Given the description of an element on the screen output the (x, y) to click on. 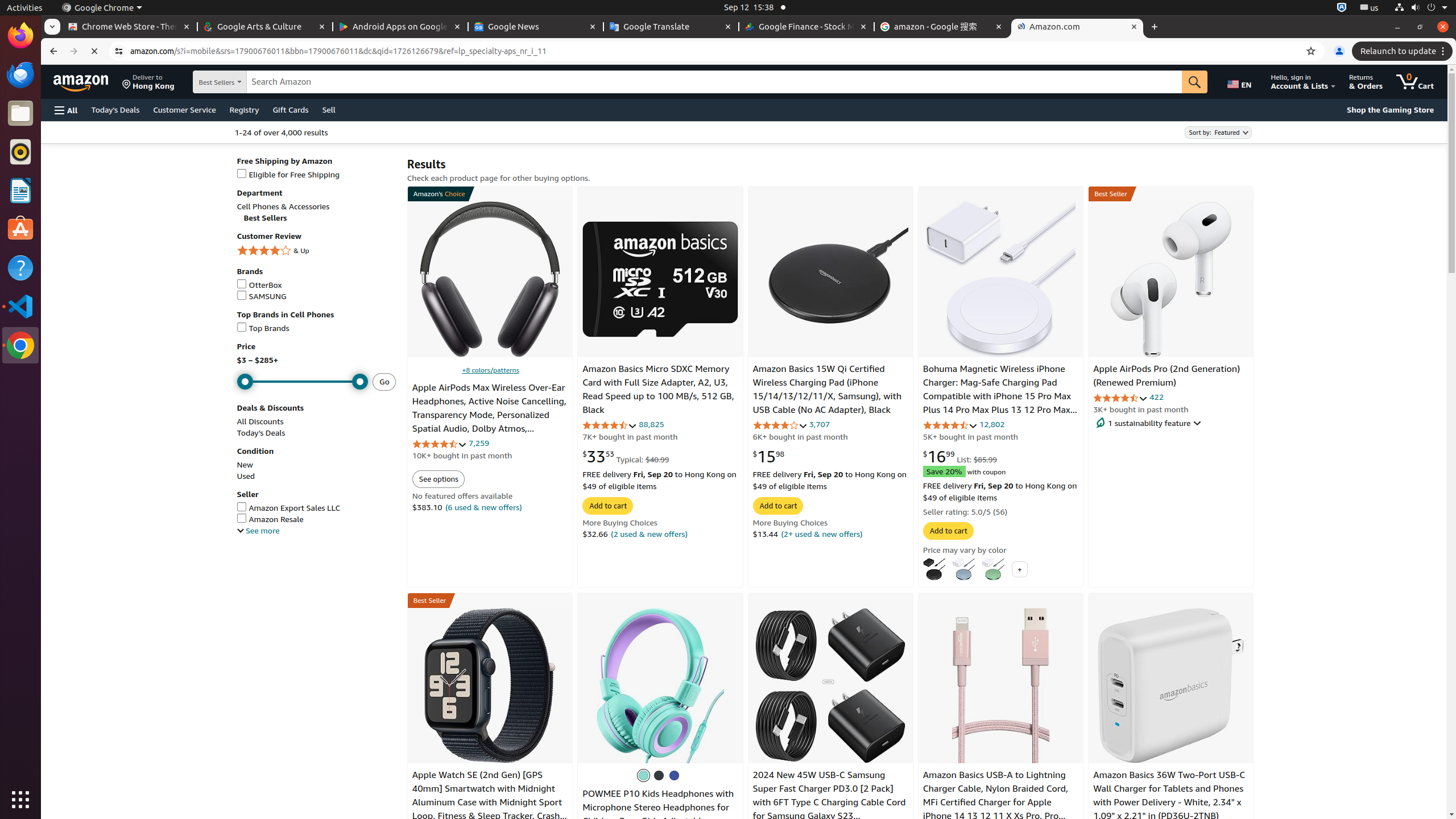
Google Chrome Element type: push-button (20, 344)
:1.72/StatusNotifierItem Element type: menu (1341, 7)
3,707 Element type: link (818, 423)
See more, Seller Element type: push-button (257, 530)
You Element type: push-button (1339, 50)
